Given the description of an element on the screen output the (x, y) to click on. 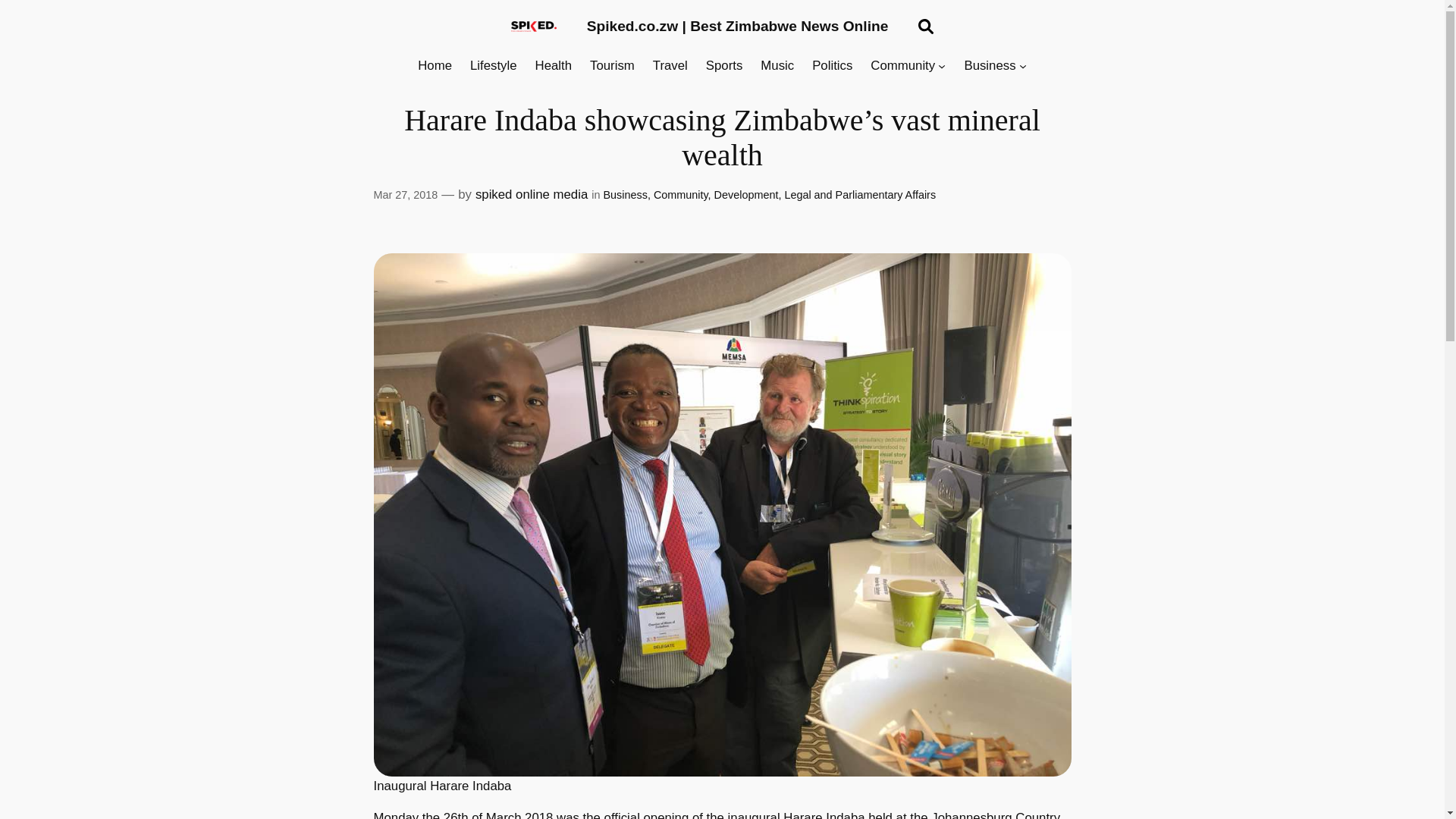
Sports (724, 66)
Mar 27, 2018 (405, 194)
Lifestyle (493, 66)
Home (434, 66)
Business (988, 66)
Community (680, 194)
Politics (831, 66)
Music (776, 66)
Tourism (611, 66)
Health (553, 66)
